Given the description of an element on the screen output the (x, y) to click on. 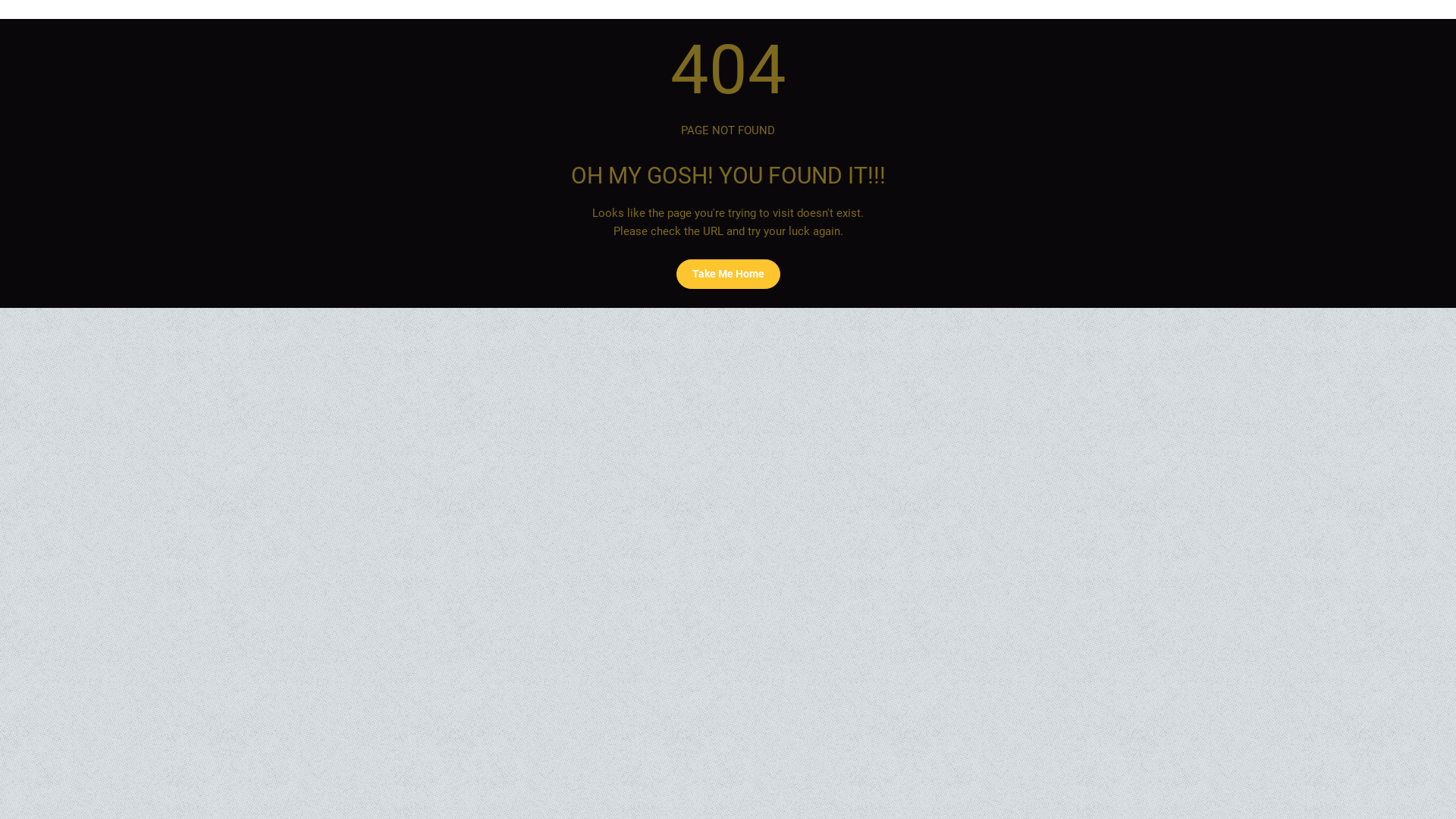
Take Me Home Element type: text (728, 273)
